Given the description of an element on the screen output the (x, y) to click on. 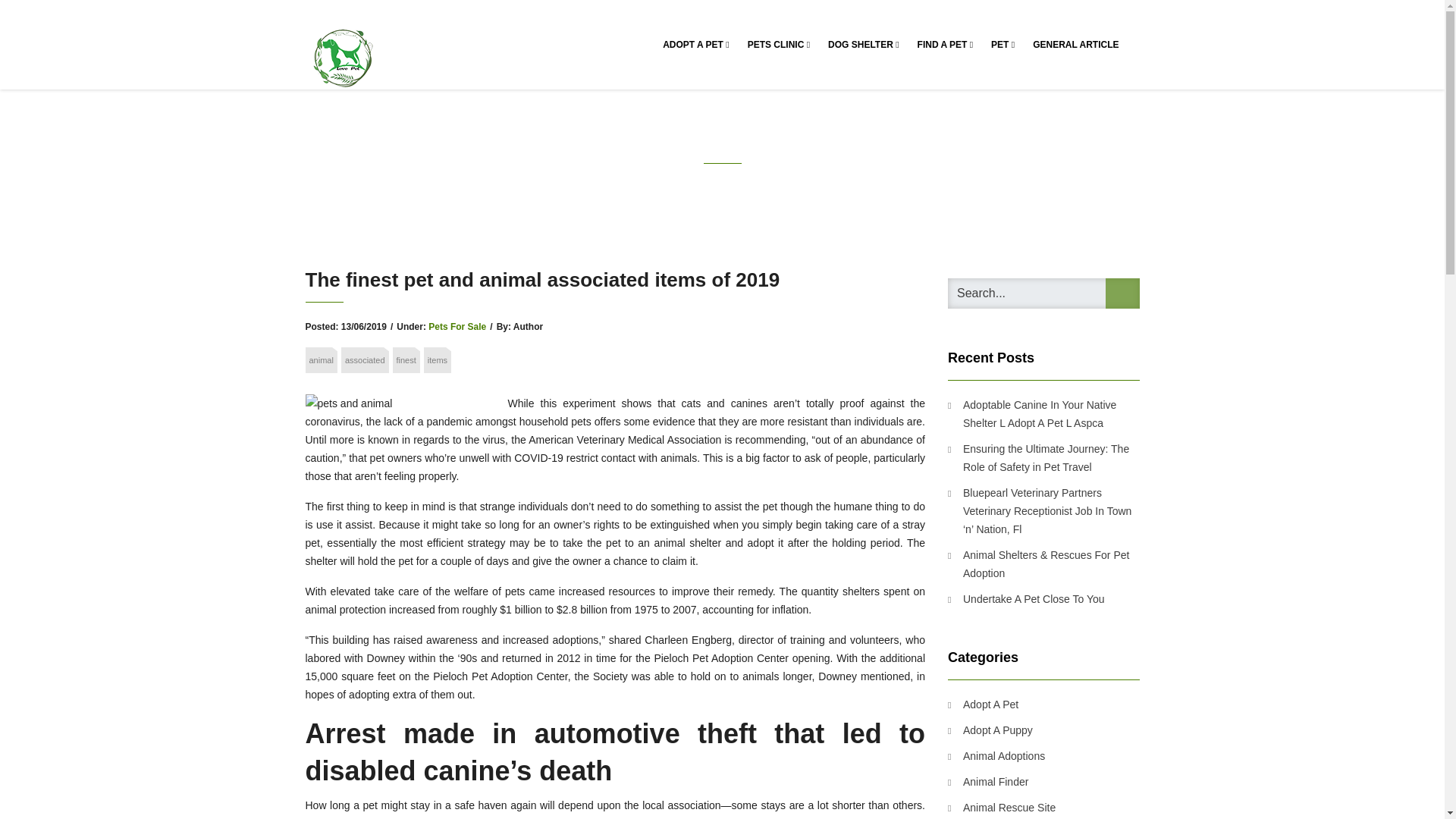
Search for: (1043, 293)
PETS CLINIC (778, 44)
items (437, 360)
associated (364, 360)
Undertake A Pet Close To You (1026, 598)
Pets For Sale (457, 326)
DOG SHELTER (863, 44)
animal (320, 360)
Adopt A Pet (982, 704)
finest (406, 360)
